Given the description of an element on the screen output the (x, y) to click on. 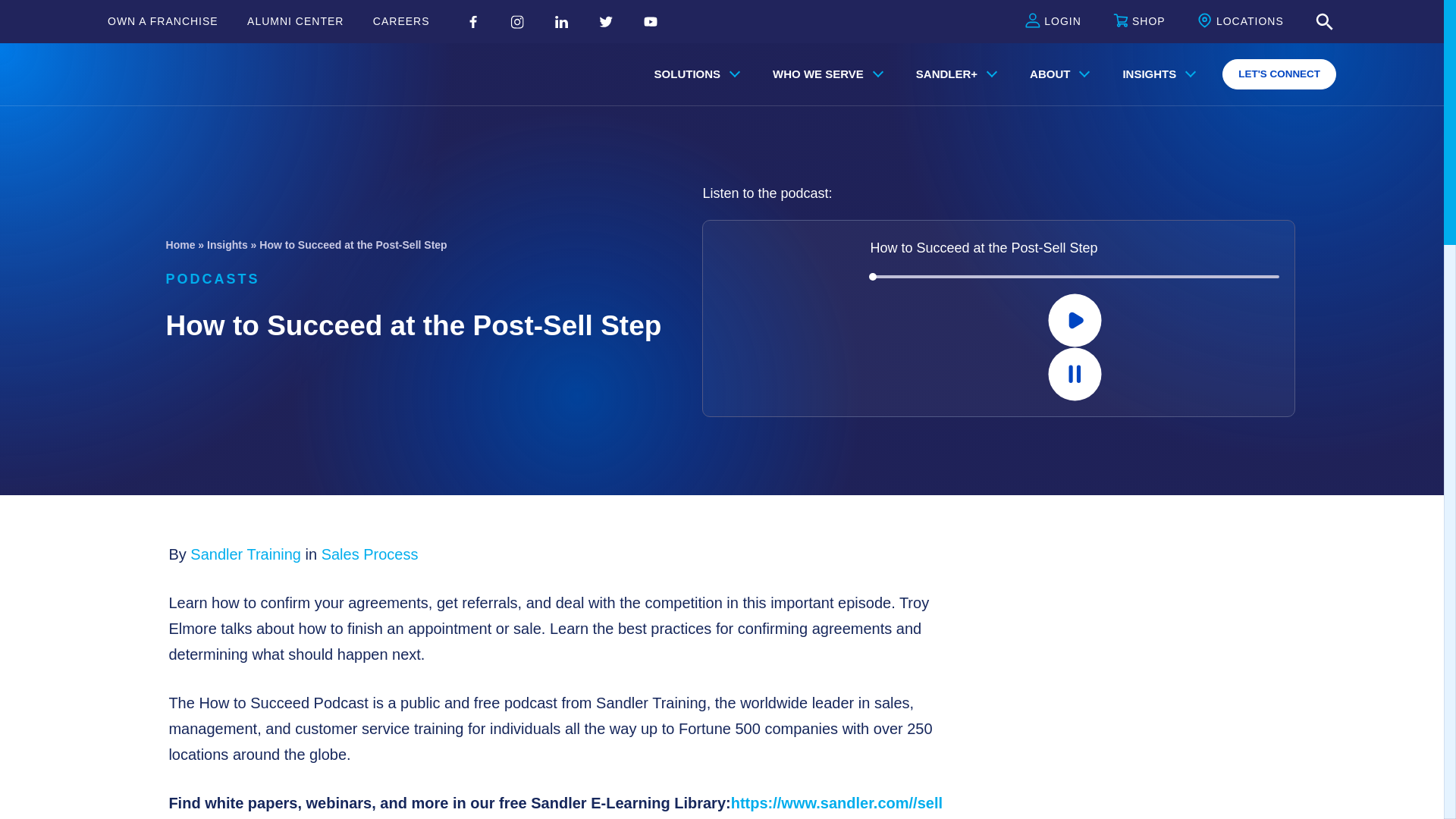
CAREERS (400, 21)
ALUMNI CENTER (295, 21)
LOCATIONS (1240, 22)
Open Search (1324, 21)
WHO WE SERVE (824, 73)
OWN A FRANCHISE (162, 21)
SOLUTIONS (694, 73)
LOGIN (1053, 22)
SHOP (1139, 22)
